Given the description of an element on the screen output the (x, y) to click on. 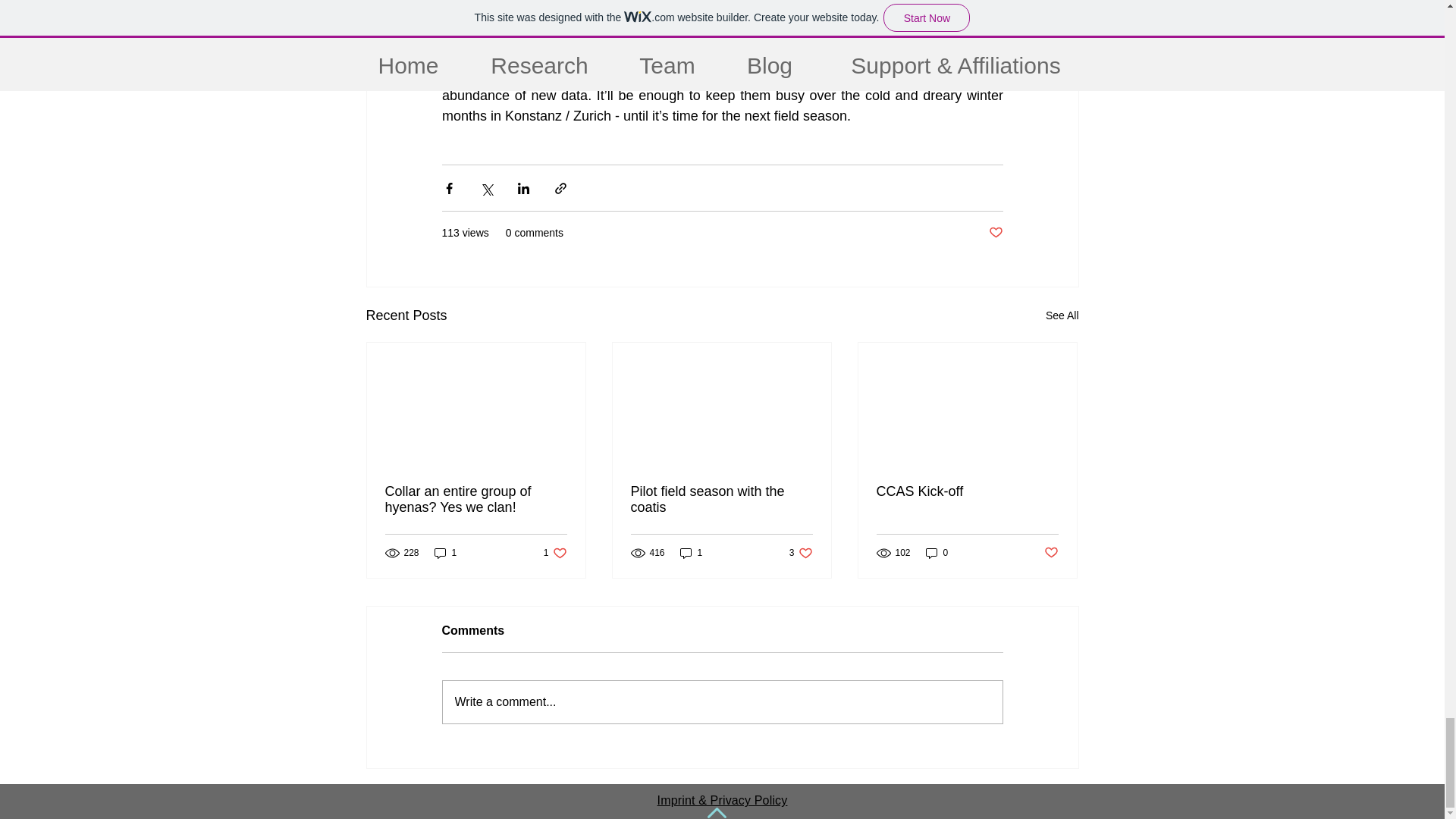
Collar an entire group of hyenas? Yes we clan! (476, 499)
Pilot field season with the coatis (555, 553)
Post not marked as liked (721, 499)
1 (995, 232)
Post not marked as liked (691, 553)
0 (800, 553)
Write a comment... (1050, 553)
See All (937, 553)
1 (722, 701)
CCAS Kick-off (1061, 315)
